Given the description of an element on the screen output the (x, y) to click on. 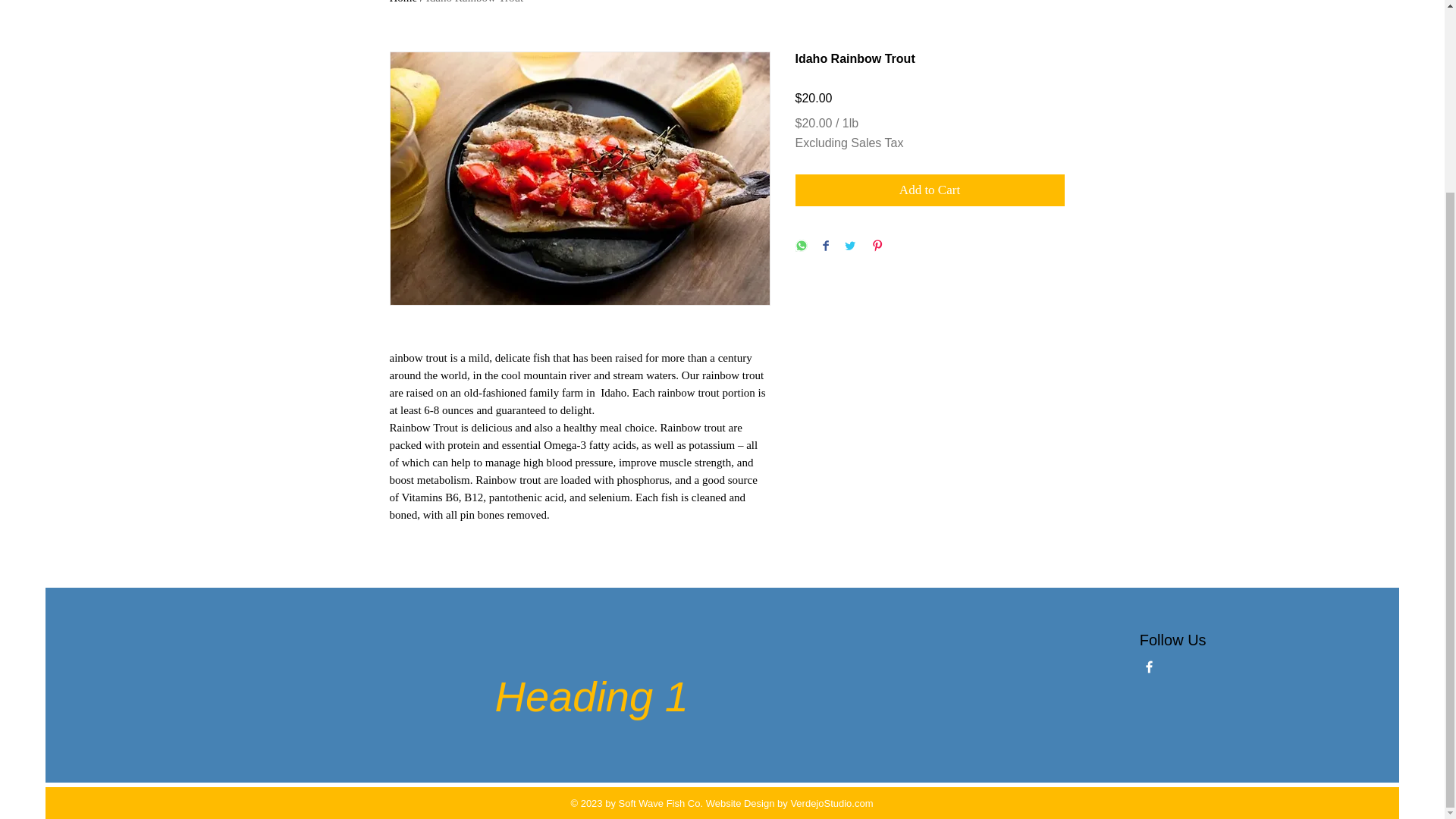
Idaho Rainbow Trout (474, 2)
Add to Cart (929, 190)
Home (403, 2)
